Given the description of an element on the screen output the (x, y) to click on. 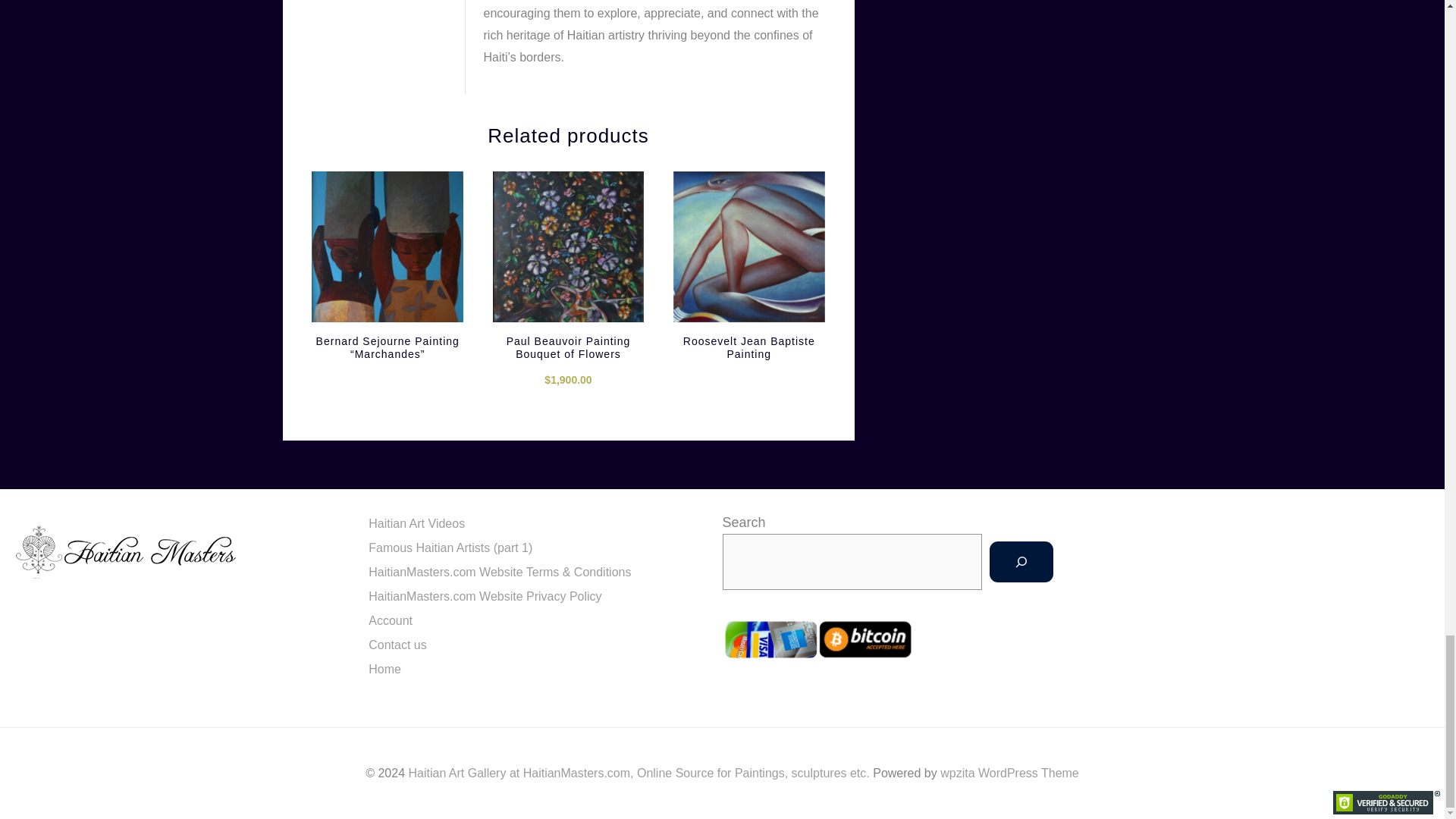
Paul Beauvoir Painting Bouquet of Flowers (569, 350)
